Given the description of an element on the screen output the (x, y) to click on. 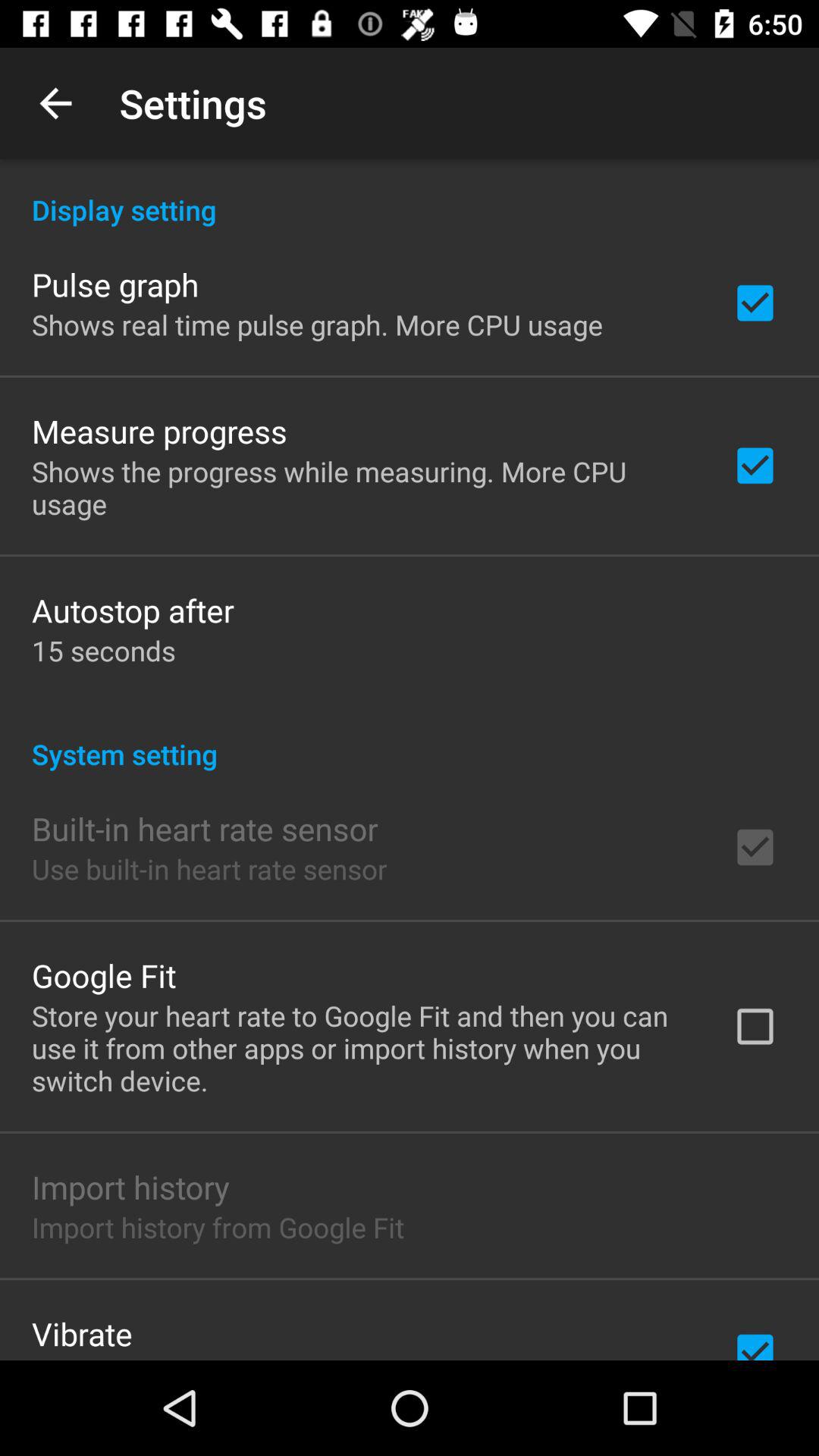
open icon above the pulse graph icon (409, 193)
